Given the description of an element on the screen output the (x, y) to click on. 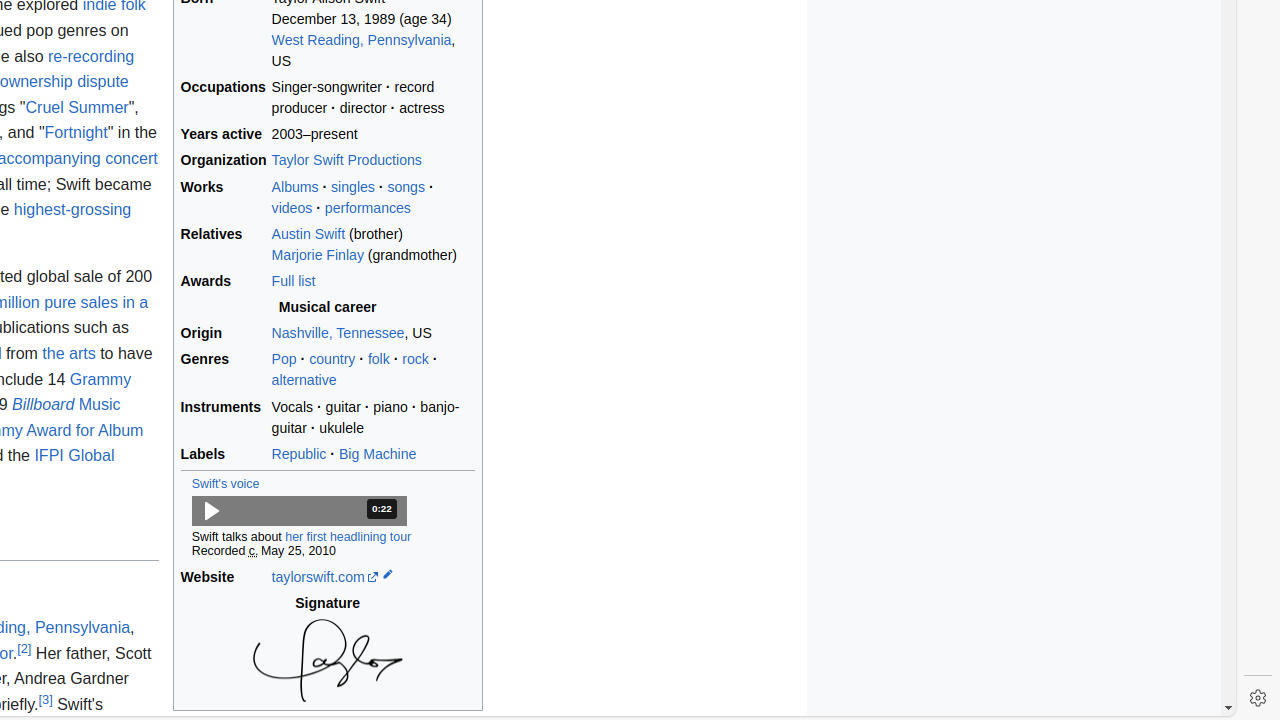
Taylor Swift Productions Element type: link (346, 160)
Play audio Element type: push-button (299, 510)
Pop · country · folk · rock · alternative Element type: table-cell (373, 370)
To get missing image descriptions, open the context menu. Element type: link (327, 660)
Nashville, Tennessee Element type: link (338, 333)
